Given the description of an element on the screen output the (x, y) to click on. 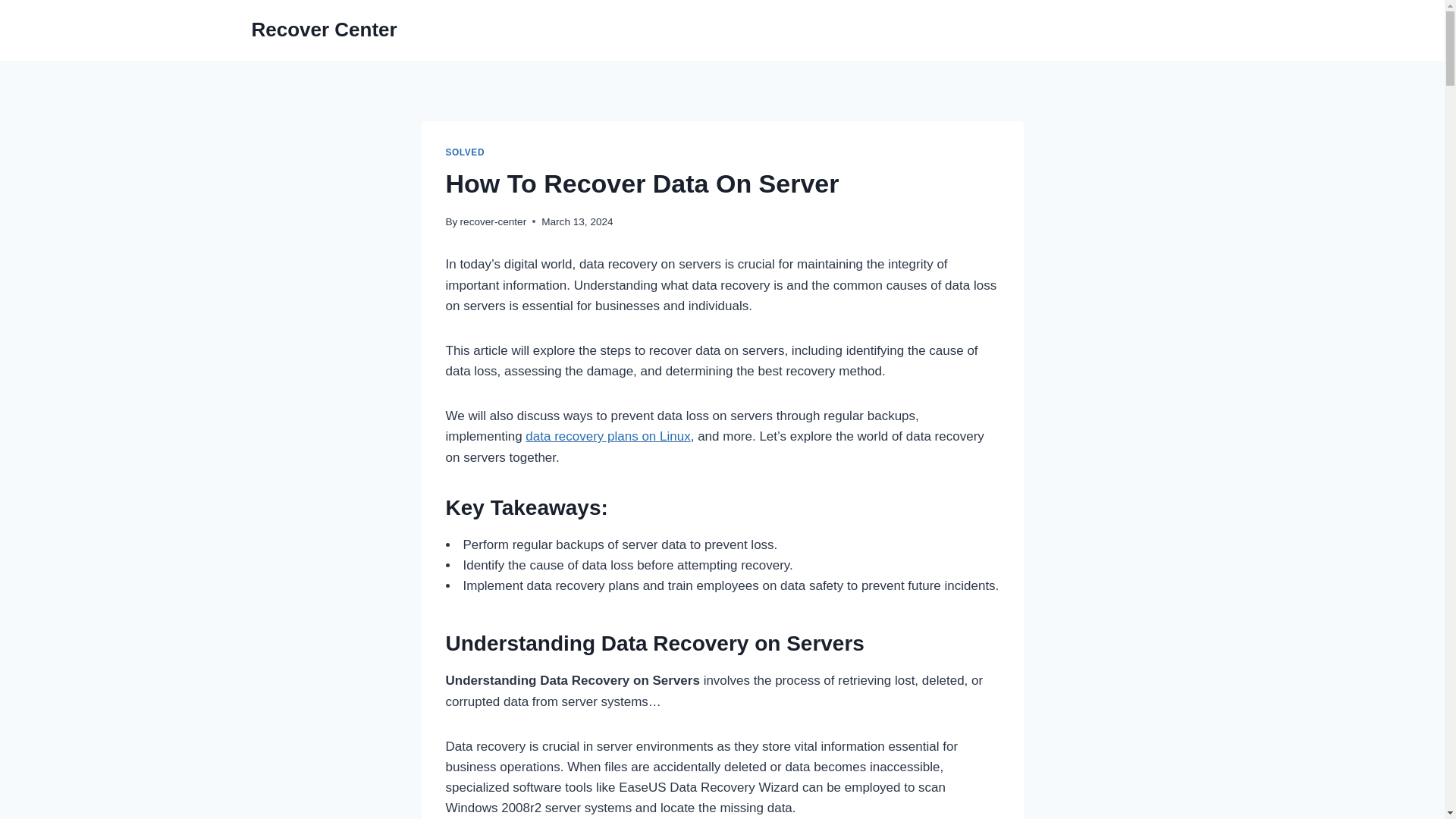
SOLVED (464, 152)
Recover Center (324, 29)
data recovery plans on Linux (607, 436)
recover-center (493, 221)
